Given the description of an element on the screen output the (x, y) to click on. 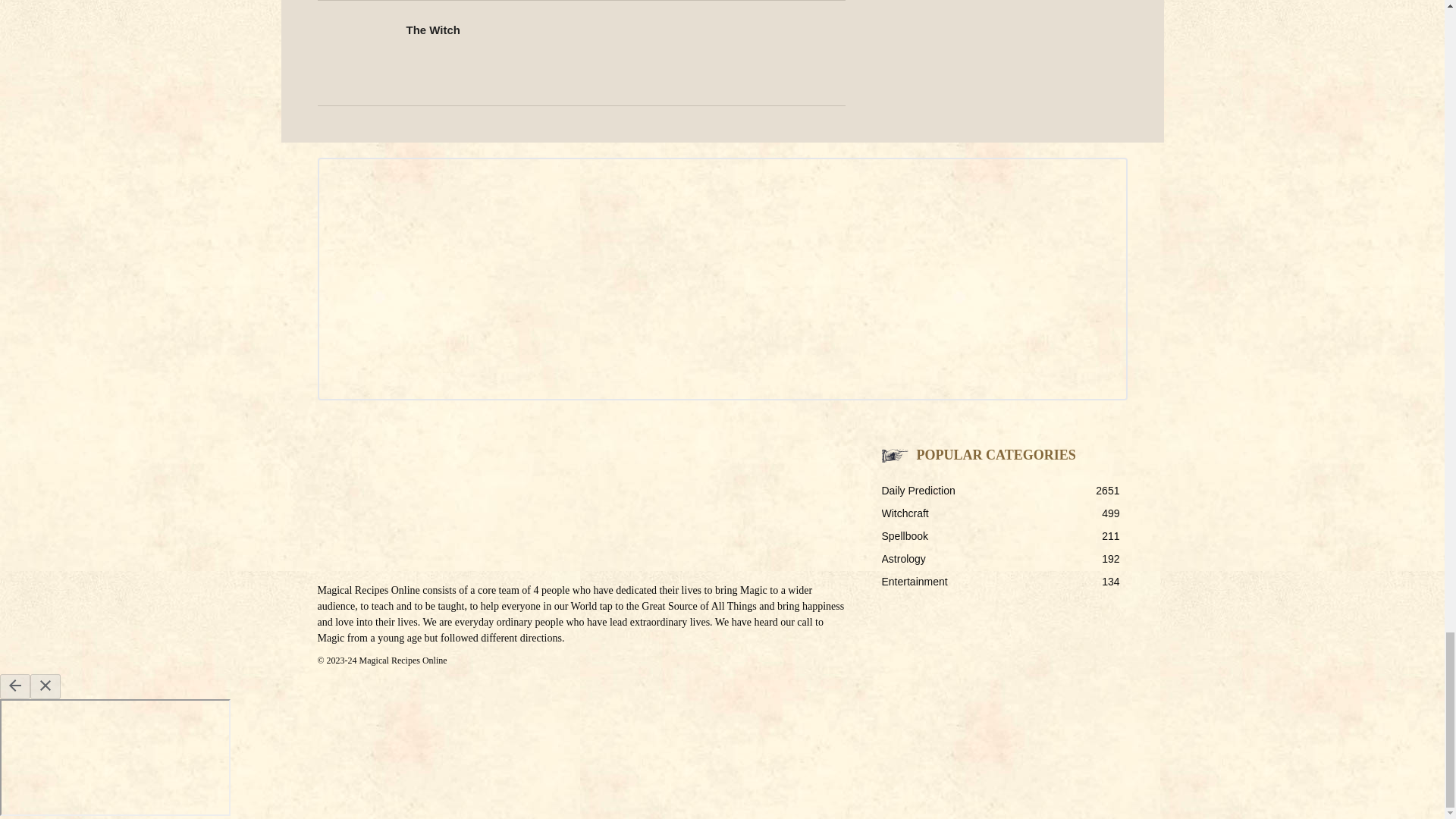
The Witch (433, 29)
